Given the description of an element on the screen output the (x, y) to click on. 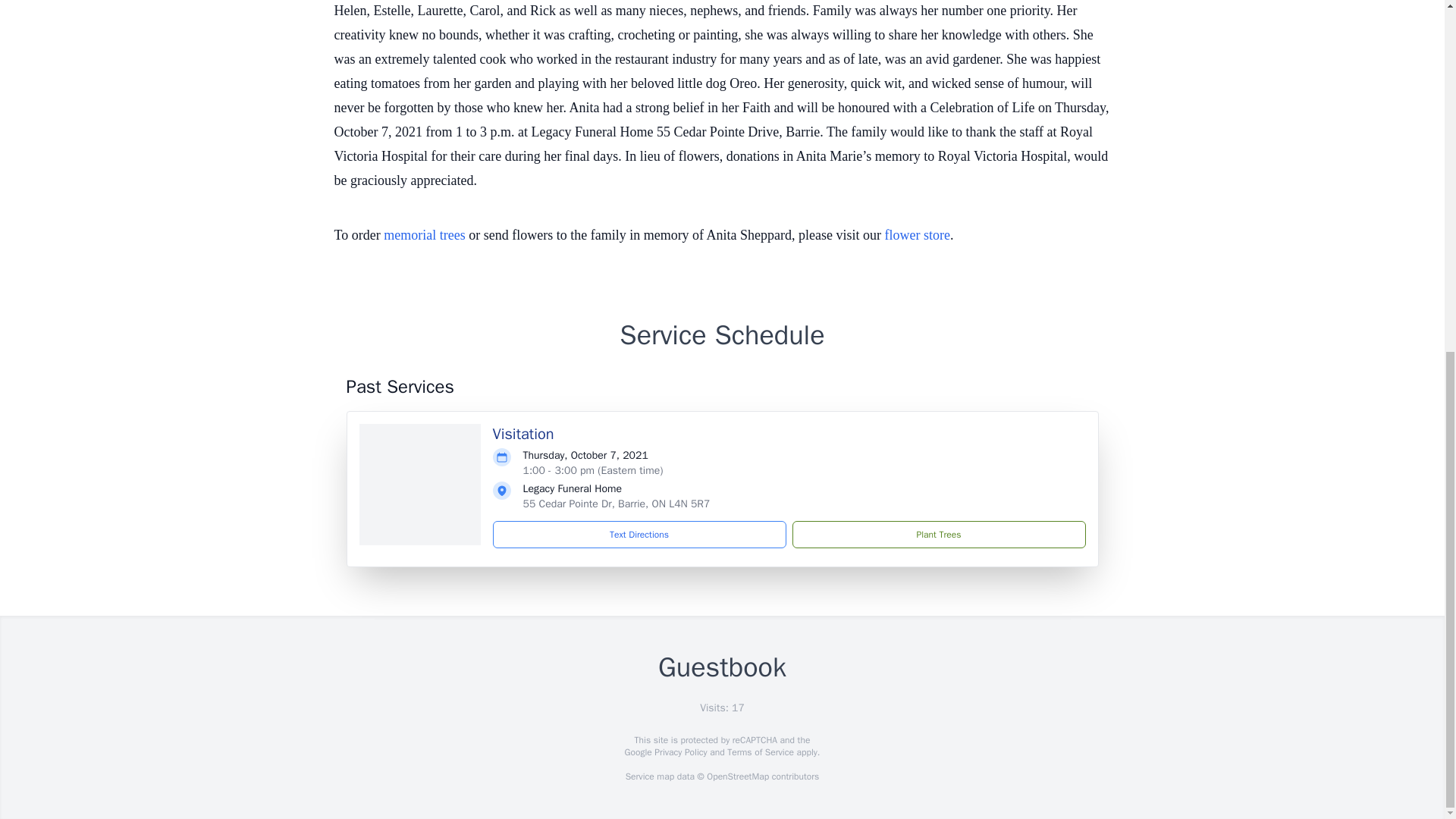
Plant Trees (938, 533)
55 Cedar Pointe Dr, Barrie, ON L4N 5R7 (616, 503)
Text Directions (639, 533)
OpenStreetMap (737, 776)
Terms of Service (759, 752)
flower store (917, 234)
Privacy Policy (679, 752)
memorial trees (424, 234)
